Given the description of an element on the screen output the (x, y) to click on. 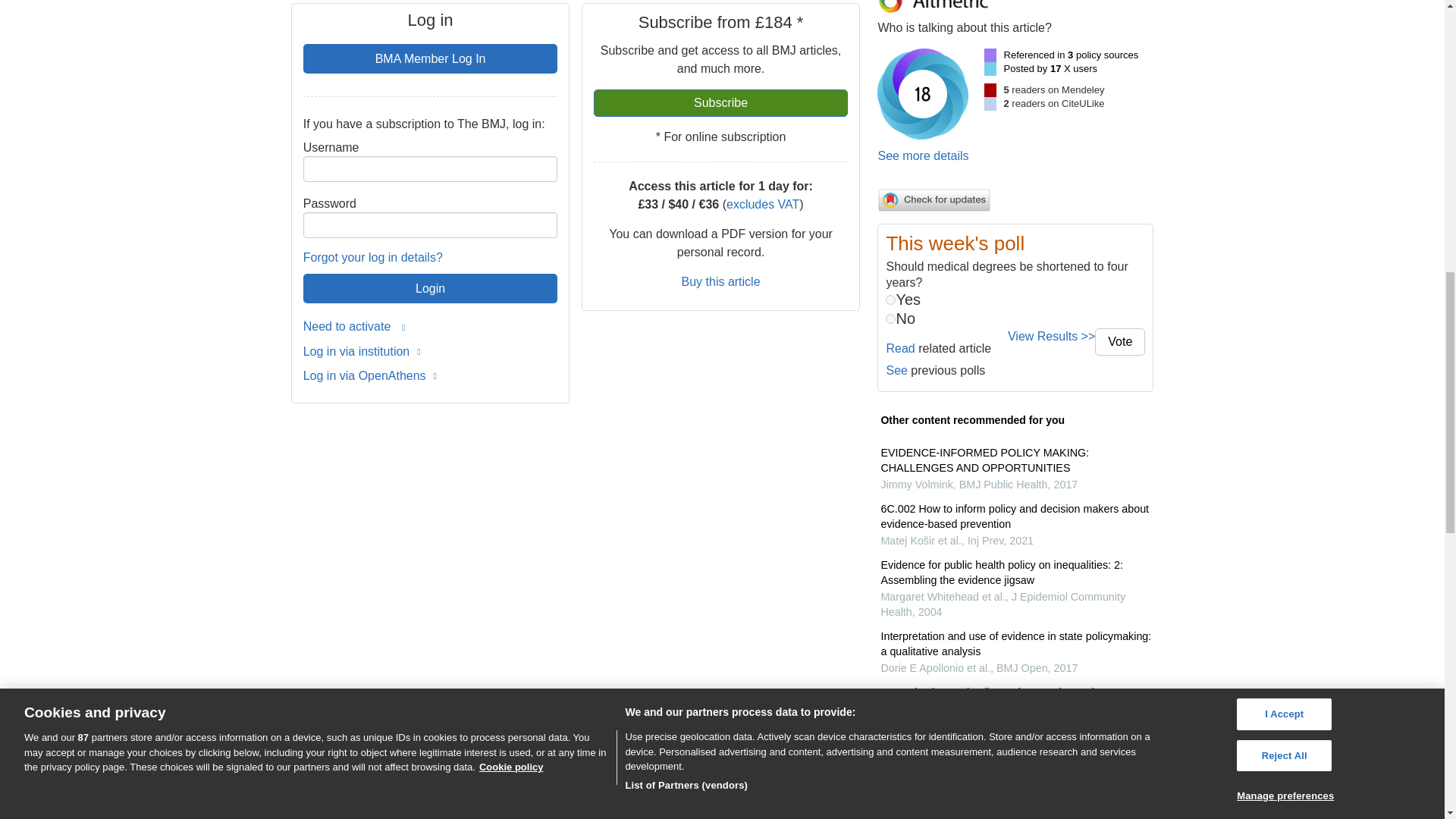
62238793 (890, 299)
62238794 (890, 318)
Login (429, 287)
